Given the description of an element on the screen output the (x, y) to click on. 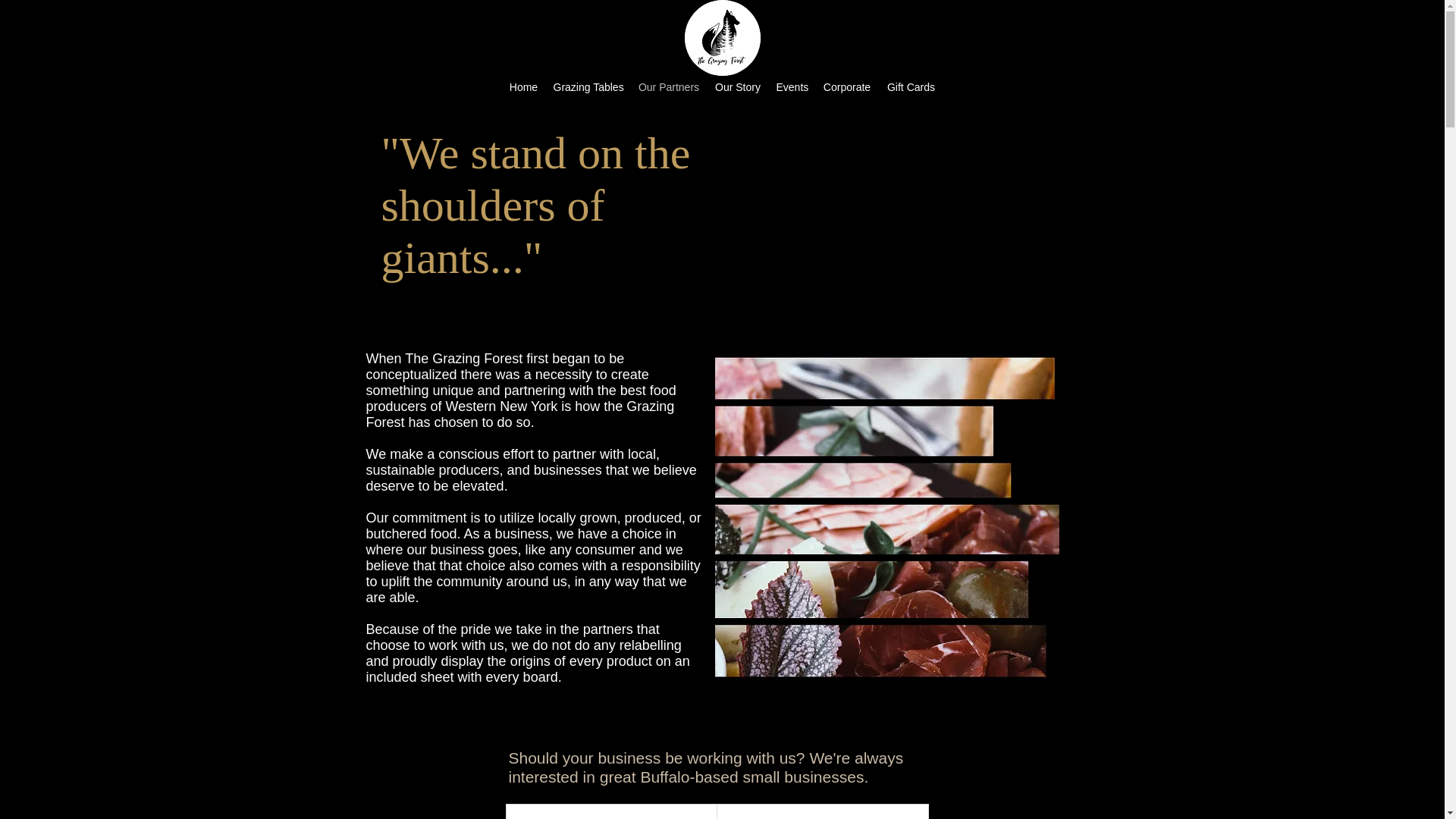
Corporate (846, 87)
Events (791, 87)
Grazing Tables (588, 87)
Home (524, 87)
Our Story (737, 87)
Gift Cards (911, 87)
Our Partners (668, 87)
